Given the description of an element on the screen output the (x, y) to click on. 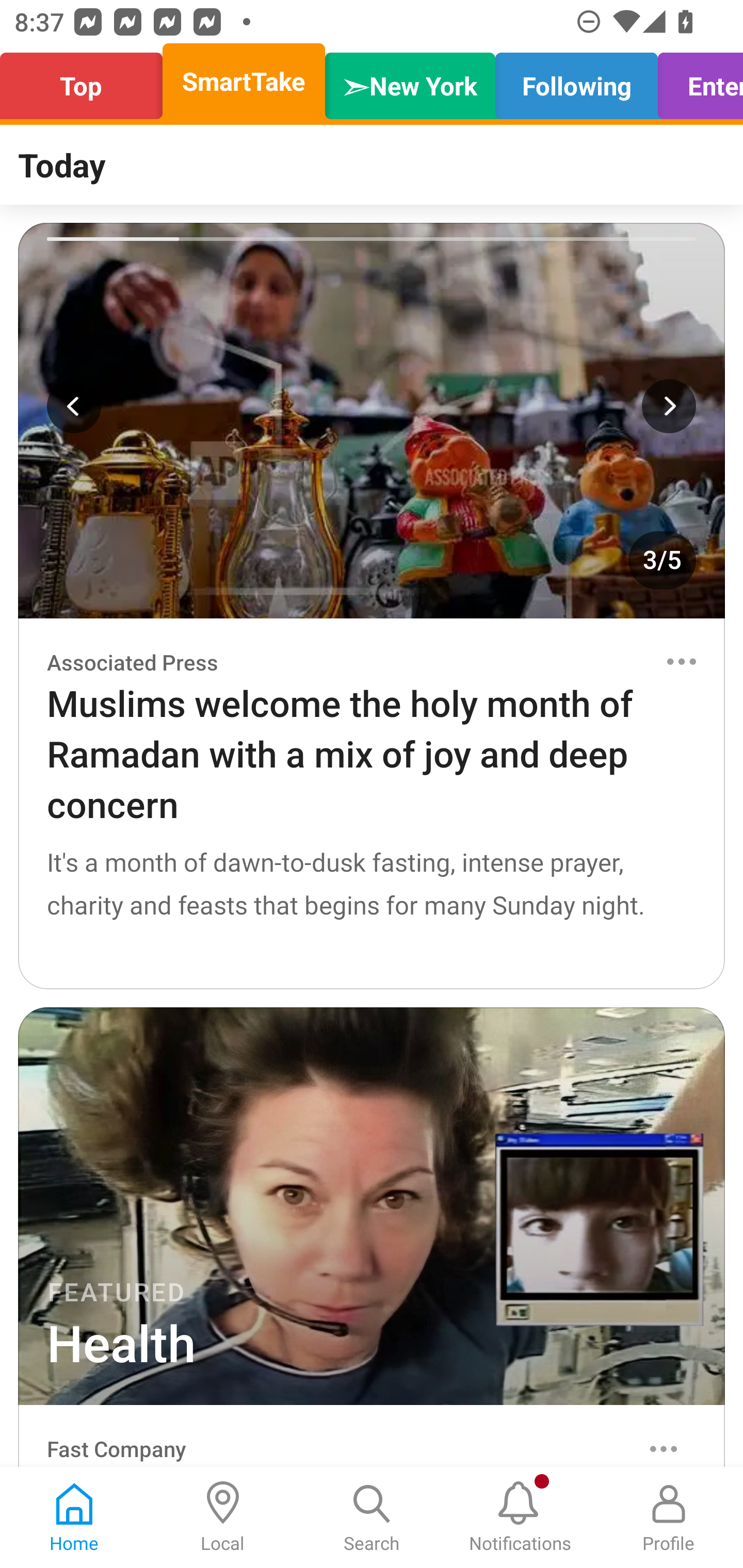
Top (86, 81)
SmartTake (243, 81)
➣New York (409, 81)
Following (576, 81)
Options (681, 661)
Fast Company Options (371, 1435)
Options (663, 1447)
Local (222, 1517)
Search (371, 1517)
Notifications, New notification Notifications (519, 1517)
Profile (668, 1517)
